Given the description of an element on the screen output the (x, y) to click on. 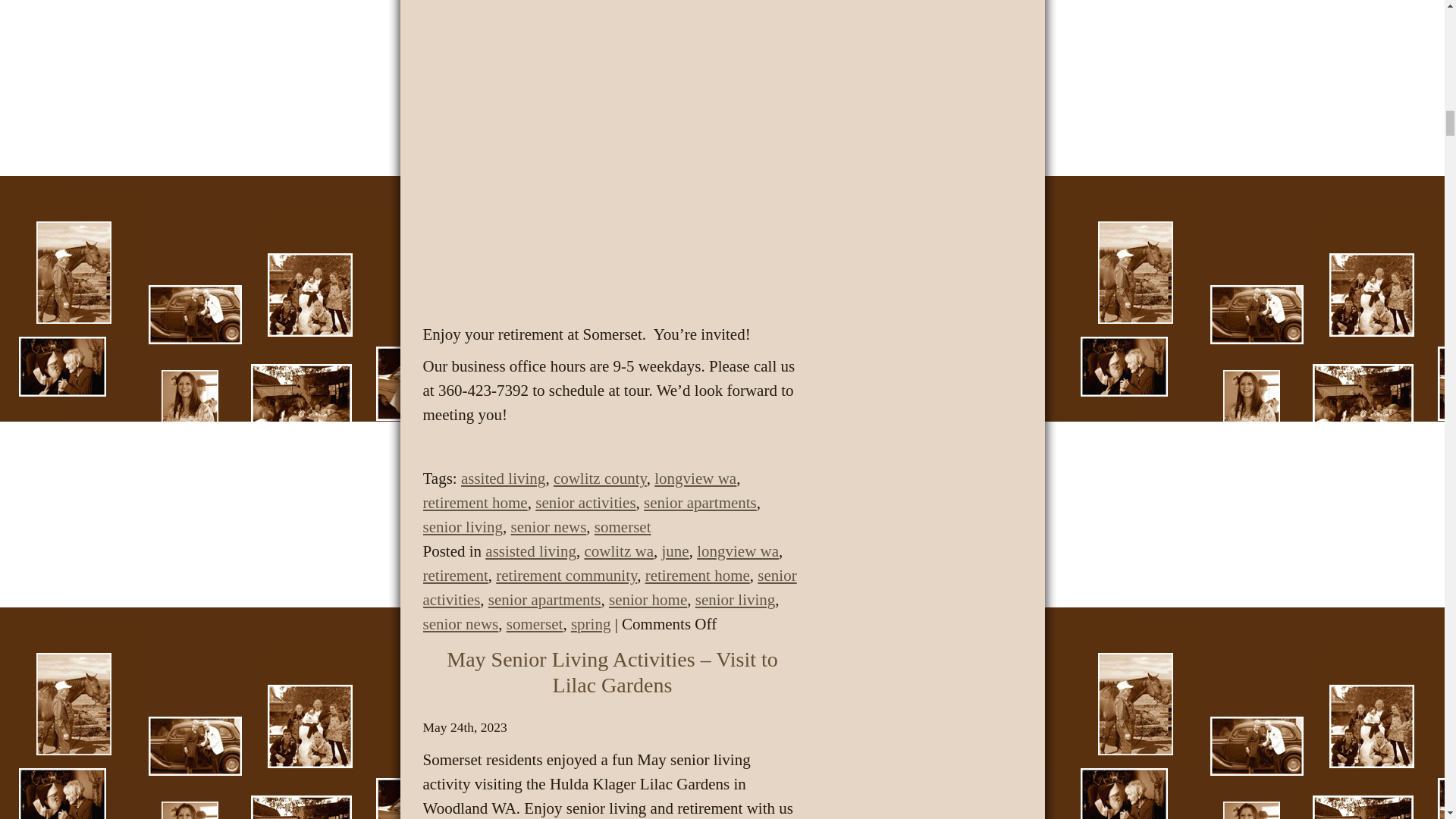
somerset (622, 526)
cowlitz county (599, 478)
senior living (463, 526)
retirement home (475, 502)
retirement home (697, 575)
june (674, 551)
senior activities (584, 502)
senior activities (609, 587)
longview wa (694, 478)
senior apartments (700, 502)
